Given the description of an element on the screen output the (x, y) to click on. 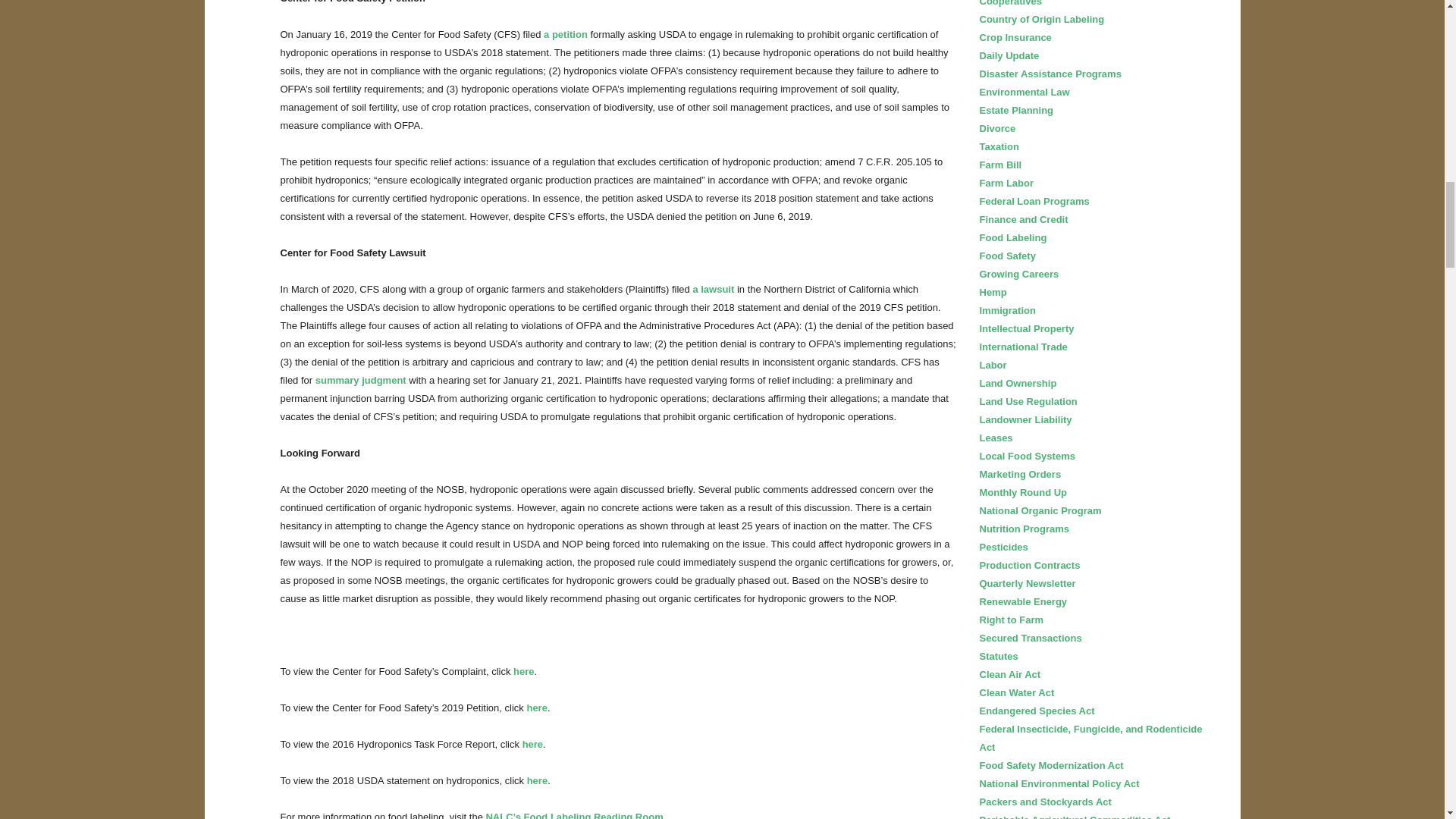
here (537, 780)
a petition (565, 34)
here (523, 671)
here (532, 744)
summary judgment (360, 379)
here (536, 707)
a lawsuit (713, 288)
